Given the description of an element on the screen output the (x, y) to click on. 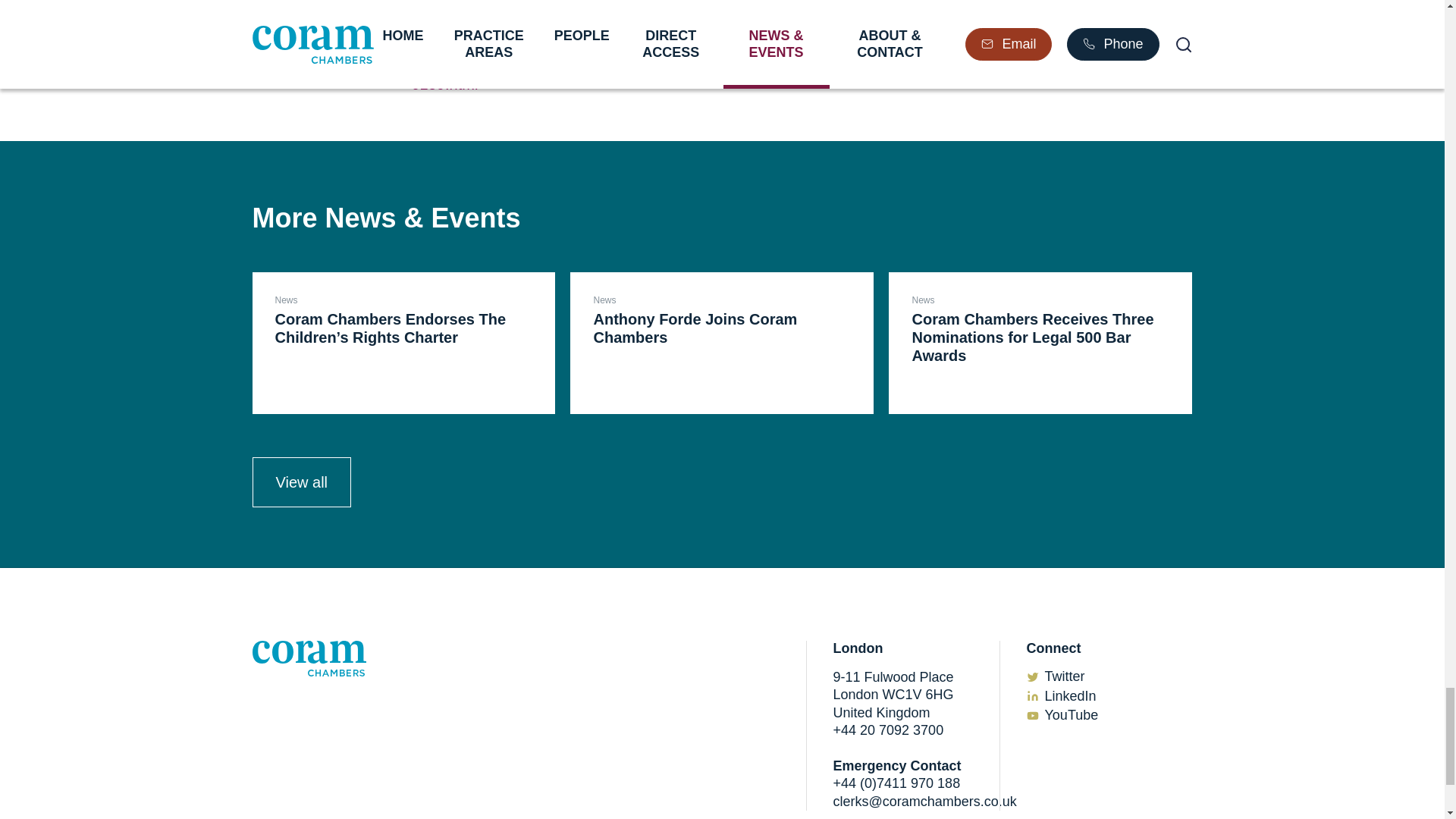
YouTube (1072, 714)
Twitter (1064, 676)
LinkedIn (721, 342)
View all (1070, 695)
